Given the description of an element on the screen output the (x, y) to click on. 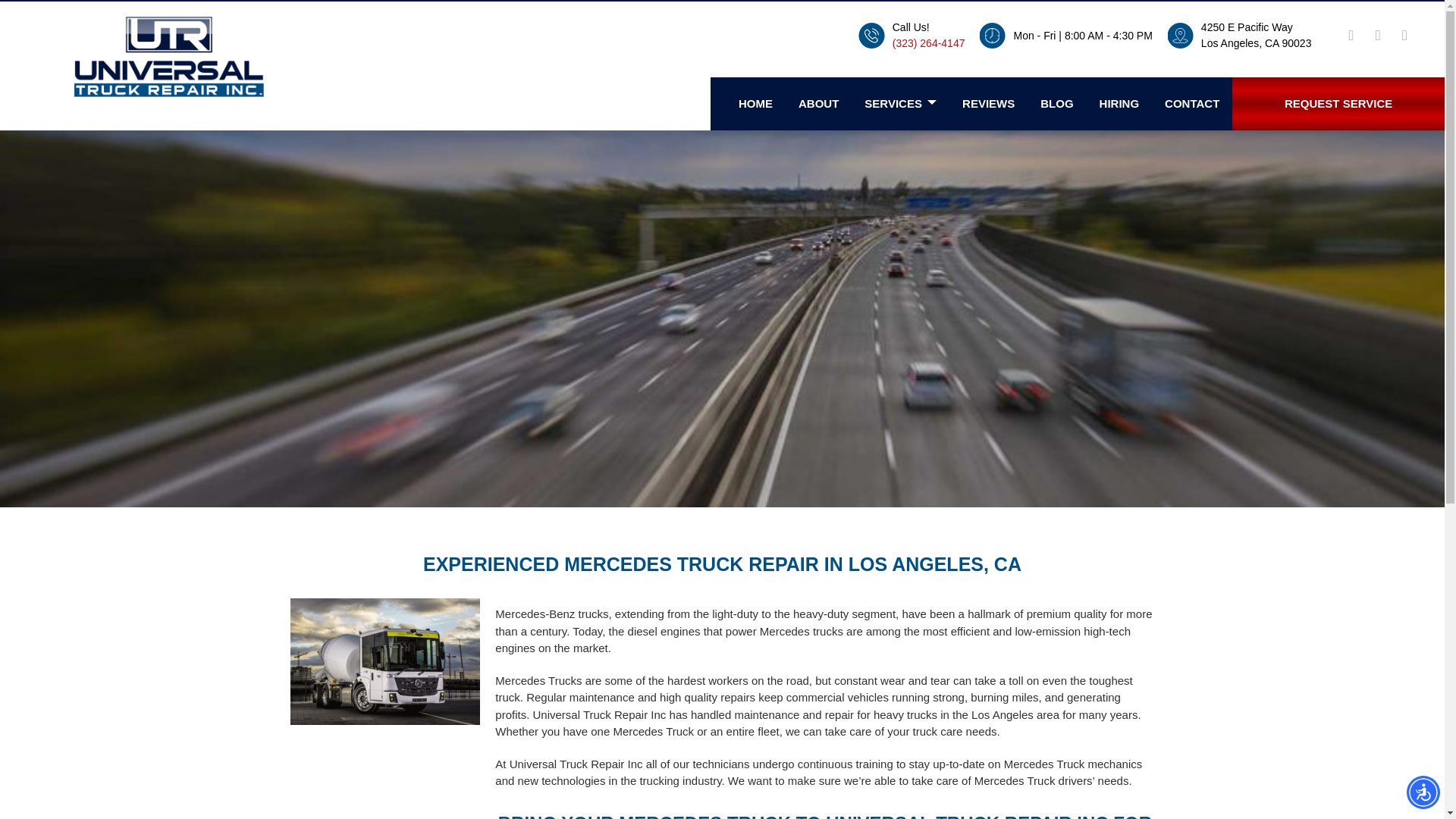
ABOUT (817, 104)
BLOG (1057, 104)
Accessibility Menu (1422, 792)
CONTACT (1192, 104)
HOME (755, 104)
Los Angeles, CA 90023 (1256, 42)
SERVICES (900, 104)
REVIEWS (988, 104)
4250 E Pacific Way (1246, 27)
HIRING (1119, 104)
